Given the description of an element on the screen output the (x, y) to click on. 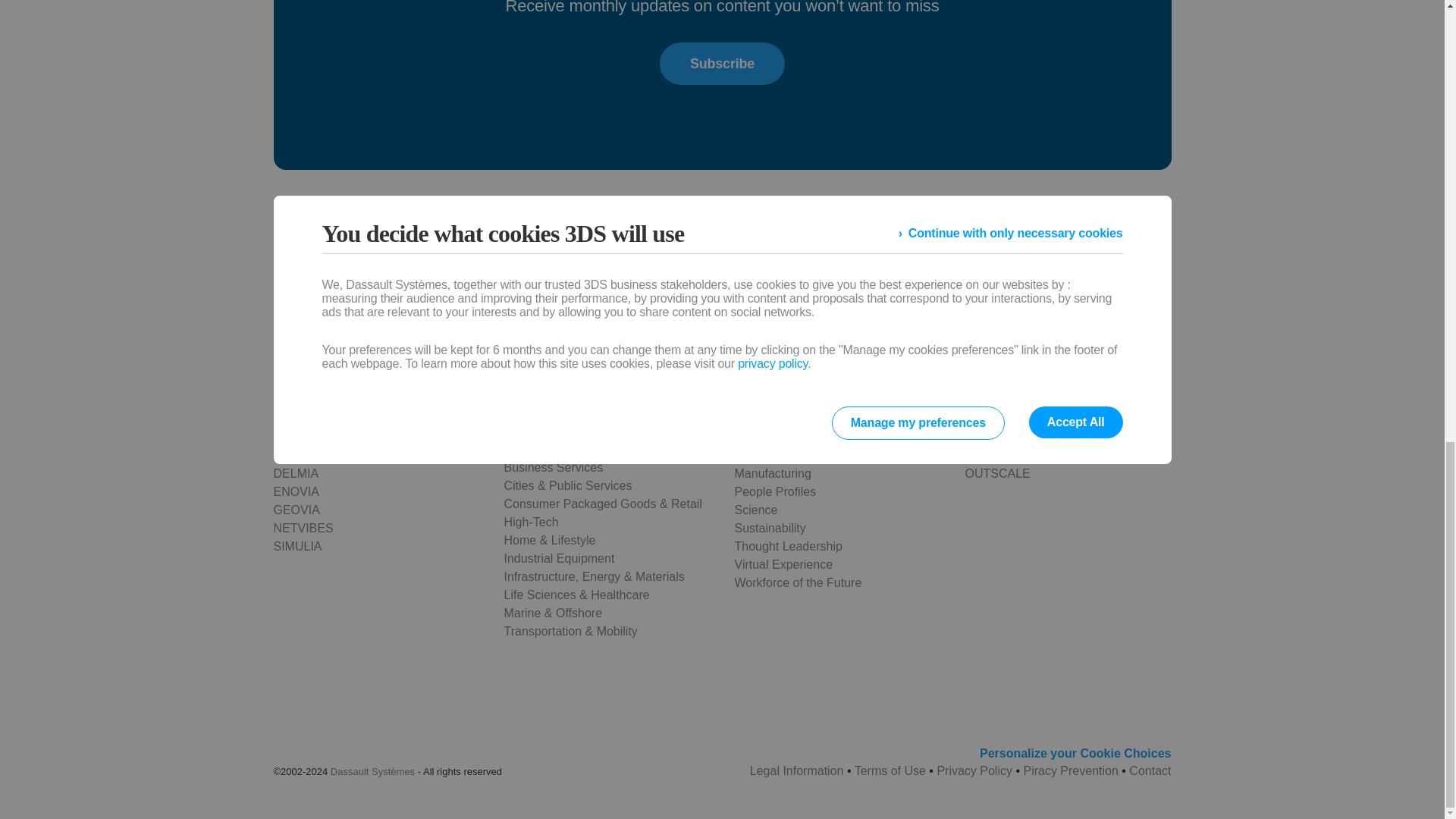
Facebook account (393, 302)
Linkedin account (472, 302)
Twitter account (433, 302)
